Given the description of an element on the screen output the (x, y) to click on. 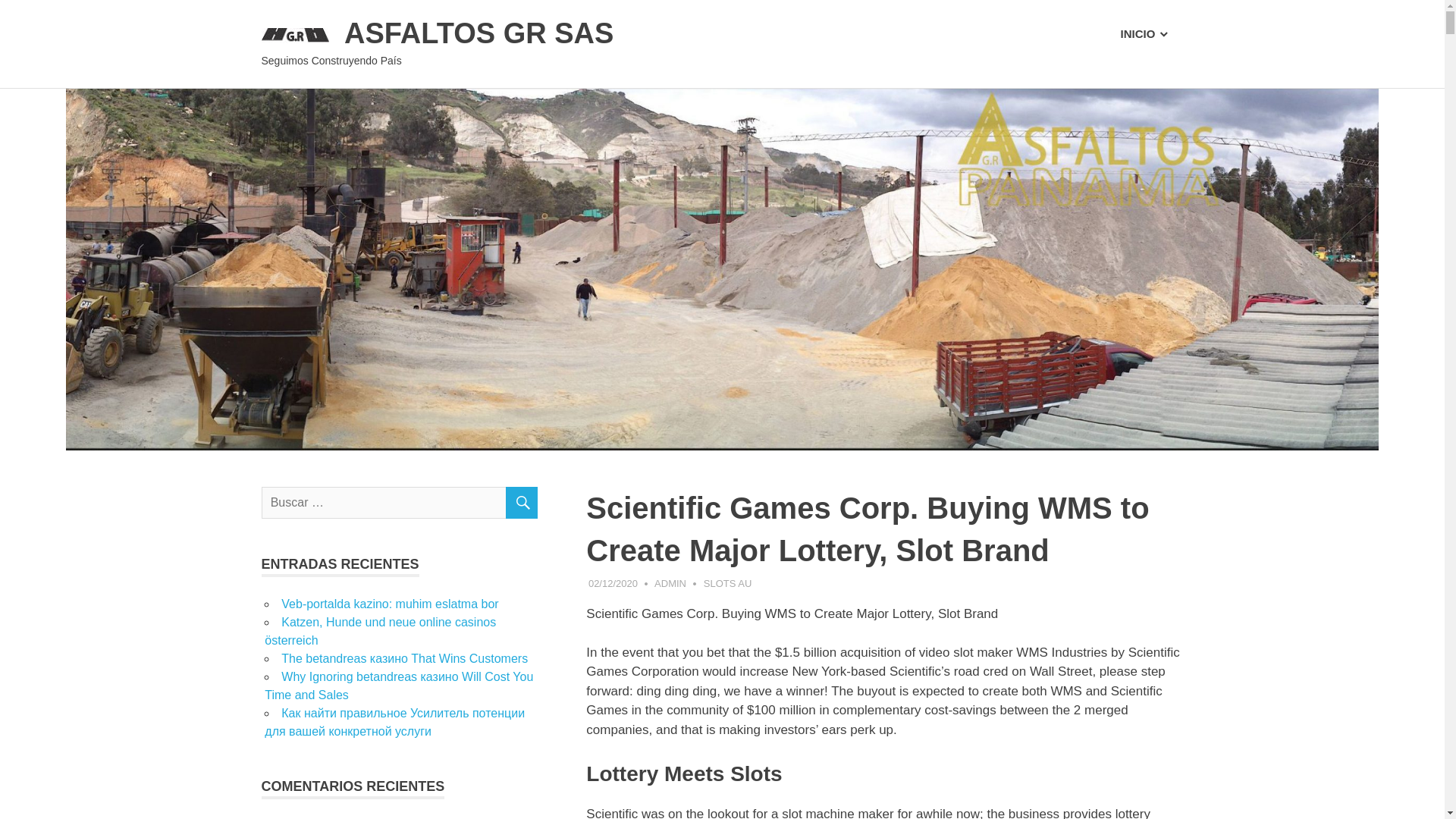
2:50 pm (612, 583)
ADMIN (669, 583)
Veb-portalda kazino: muhim eslatma bor (389, 603)
Buscar: (398, 502)
Ver todas las entradas de admin (669, 583)
Inicio (1144, 34)
INICIO (1144, 34)
SLOTS AU (727, 583)
ASFALTOS GR SAS (477, 33)
